Given the description of an element on the screen output the (x, y) to click on. 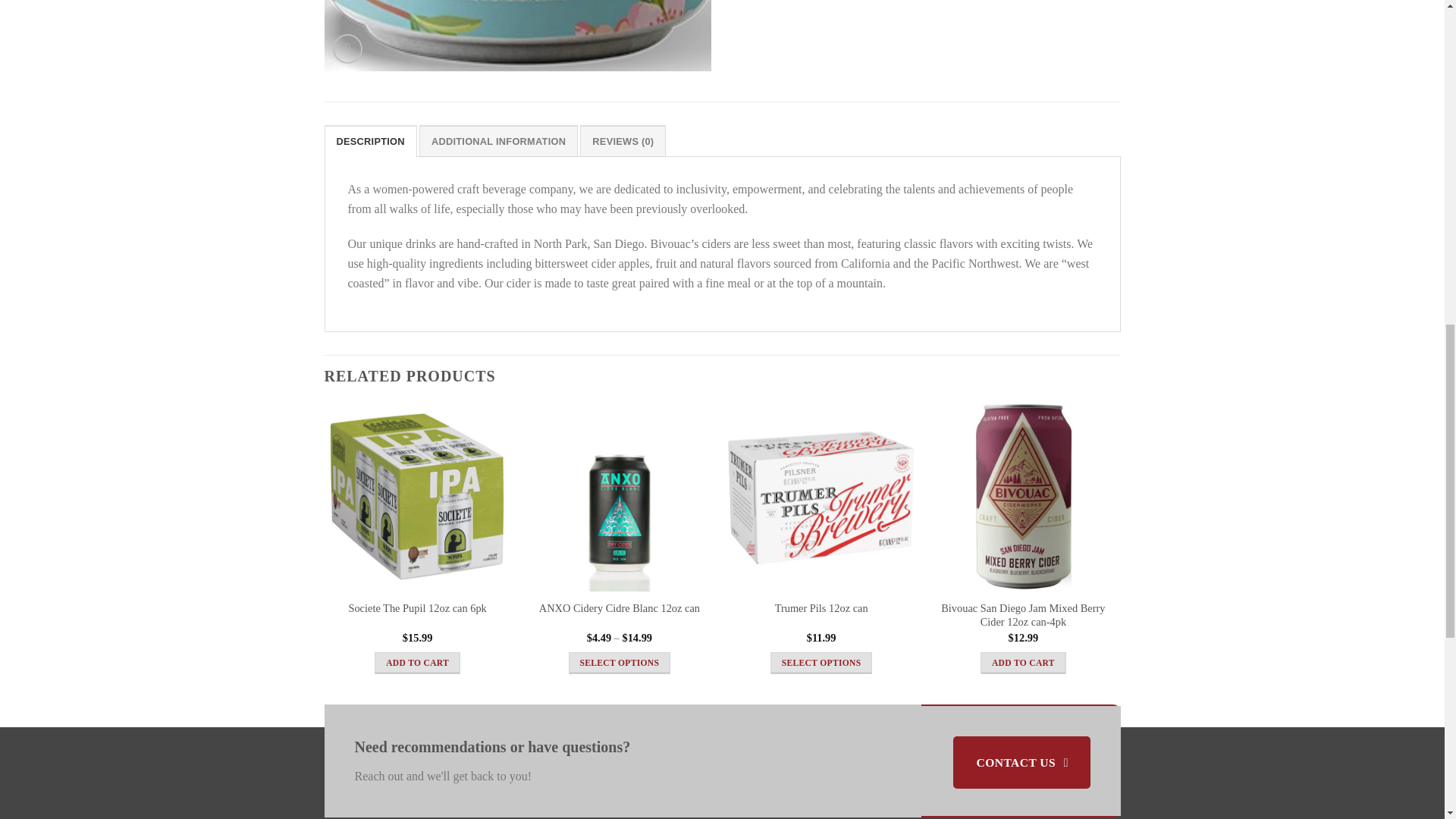
Zoom (347, 48)
